Given the description of an element on the screen output the (x, y) to click on. 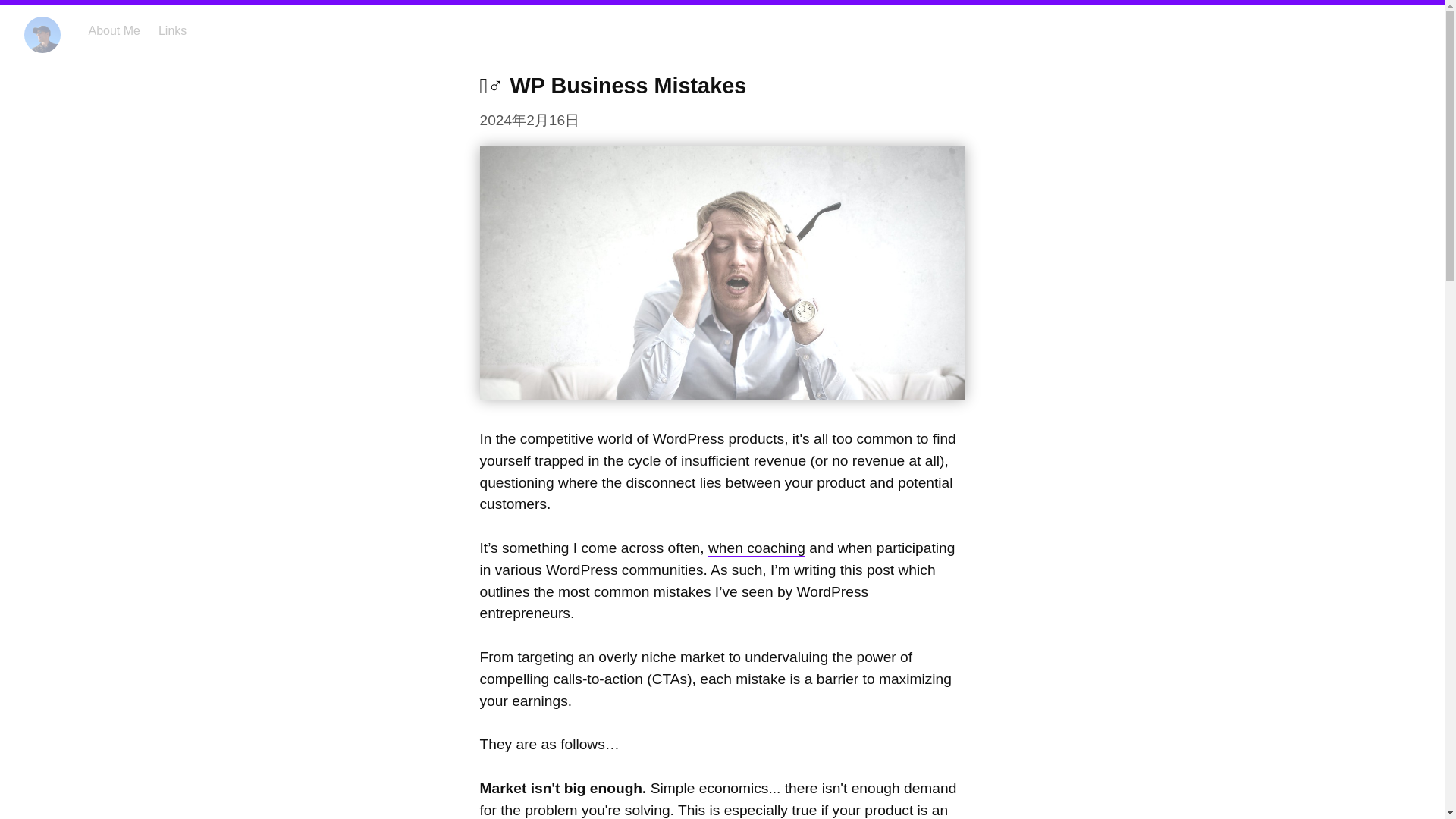
Links (172, 30)
Justin Ferriman (42, 34)
when coaching (756, 548)
About Me (113, 30)
